Given the description of an element on the screen output the (x, y) to click on. 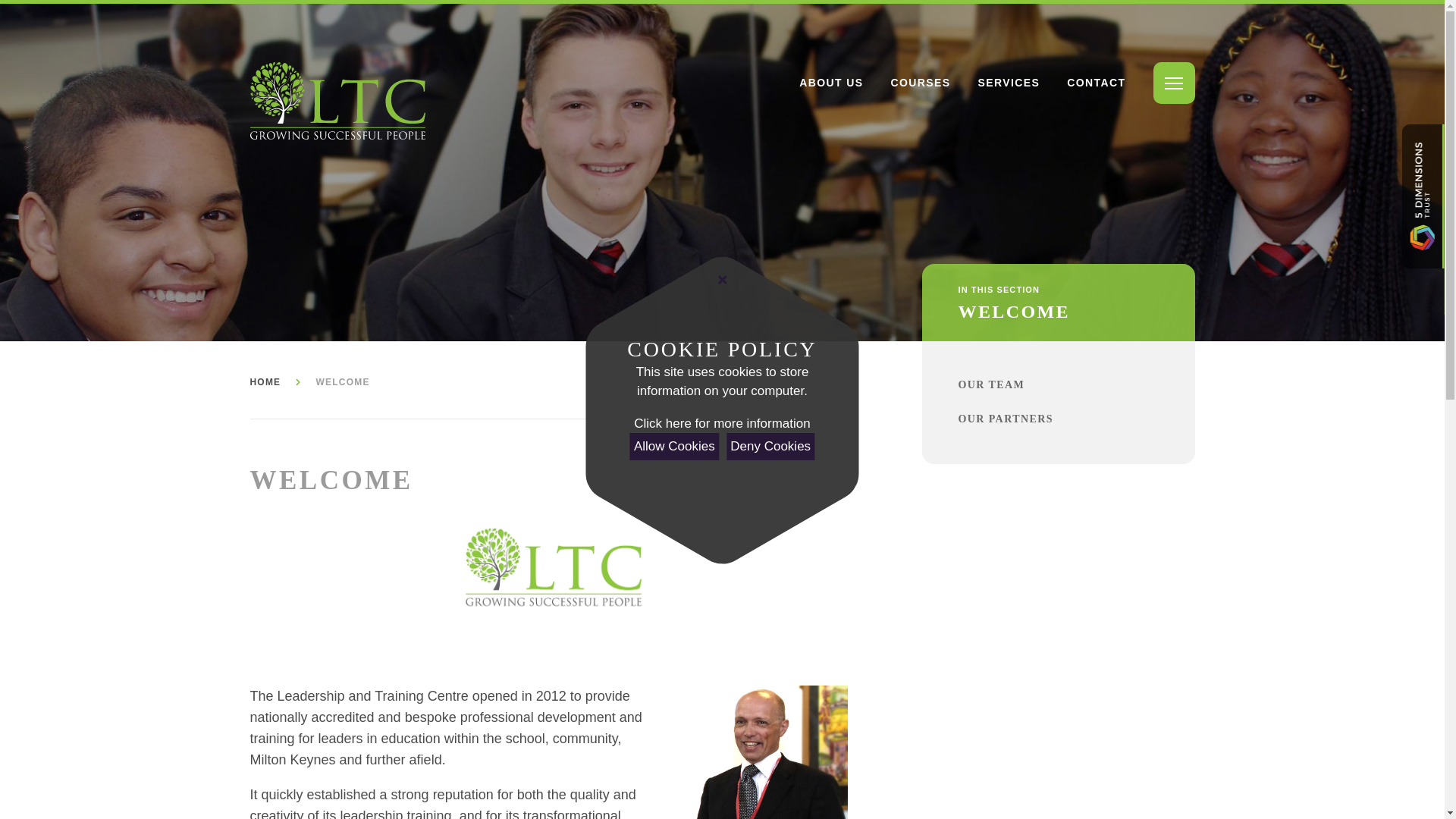
Deny Cookies (769, 446)
Allow Cookies (674, 446)
SERVICES (1009, 82)
CONTACT (1096, 82)
See cookie policy (721, 424)
COURSES (919, 82)
ABOUT US (831, 82)
